Given the description of an element on the screen output the (x, y) to click on. 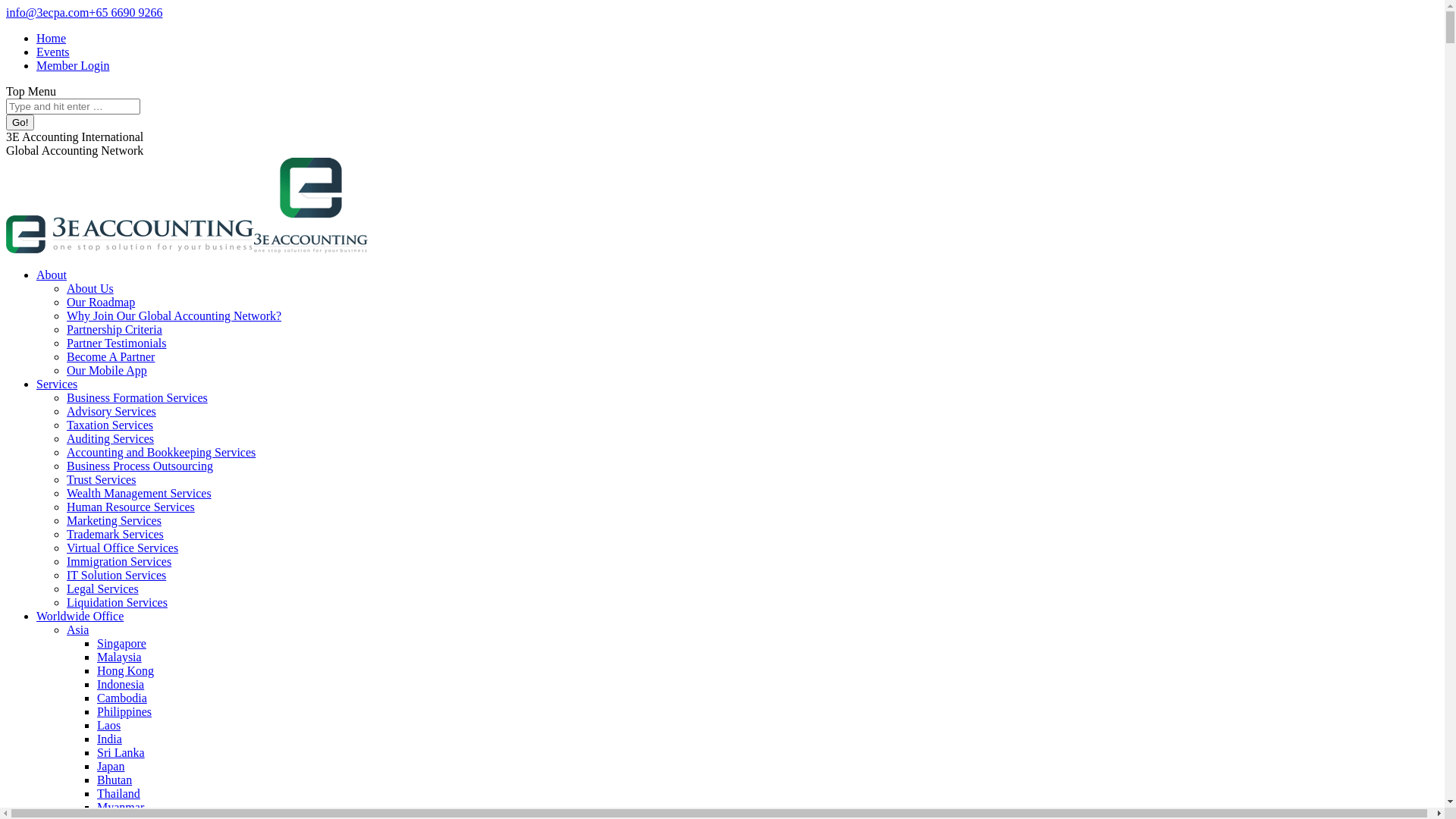
Our Mobile App Element type: text (106, 370)
Advisory Services Element type: text (111, 410)
Why Join Our Global Accounting Network? Element type: text (173, 315)
Wealth Management Services Element type: text (138, 492)
Accounting and Bookkeeping Services Element type: text (160, 451)
Philippines Element type: text (124, 711)
Human Resource Services Element type: text (130, 506)
Worldwide Office Element type: text (79, 615)
Trust Services Element type: text (100, 479)
Skip to content Element type: text (5, 5)
Hong Kong Element type: text (125, 670)
Marketing Services Element type: text (113, 520)
Events Element type: text (52, 51)
Our Roadmap Element type: text (100, 301)
Indonesia Element type: text (120, 683)
Sri Lanka Element type: text (120, 752)
Business Formation Services Element type: text (136, 397)
Become A Partner Element type: text (110, 356)
Japan Element type: text (110, 765)
Myanmar Element type: text (120, 806)
Asia Element type: text (77, 629)
About Element type: text (51, 274)
Taxation Services Element type: text (109, 424)
Trademark Services Element type: text (114, 533)
Legal Services Element type: text (102, 588)
+65 6690 9266 Element type: text (125, 12)
Partner Testimonials Element type: text (116, 342)
Business Process Outsourcing Element type: text (139, 465)
Services Element type: text (56, 383)
Malaysia Element type: text (119, 656)
India Element type: text (109, 738)
info@3ecpa.com Element type: text (47, 12)
Search form Element type: hover (73, 106)
IT Solution Services Element type: text (116, 574)
Thailand Element type: text (118, 793)
Immigration Services Element type: text (118, 561)
Partnership Criteria Element type: text (114, 329)
Singapore Element type: text (121, 643)
Virtual Office Services Element type: text (122, 547)
About Us Element type: text (89, 288)
Cambodia Element type: text (122, 697)
Go! Element type: text (20, 122)
Bhutan Element type: text (114, 779)
Home Element type: text (50, 37)
Laos Element type: text (108, 724)
Auditing Services Element type: text (109, 438)
Liquidation Services Element type: text (116, 602)
Member Login Element type: text (72, 65)
